Given the description of an element on the screen output the (x, y) to click on. 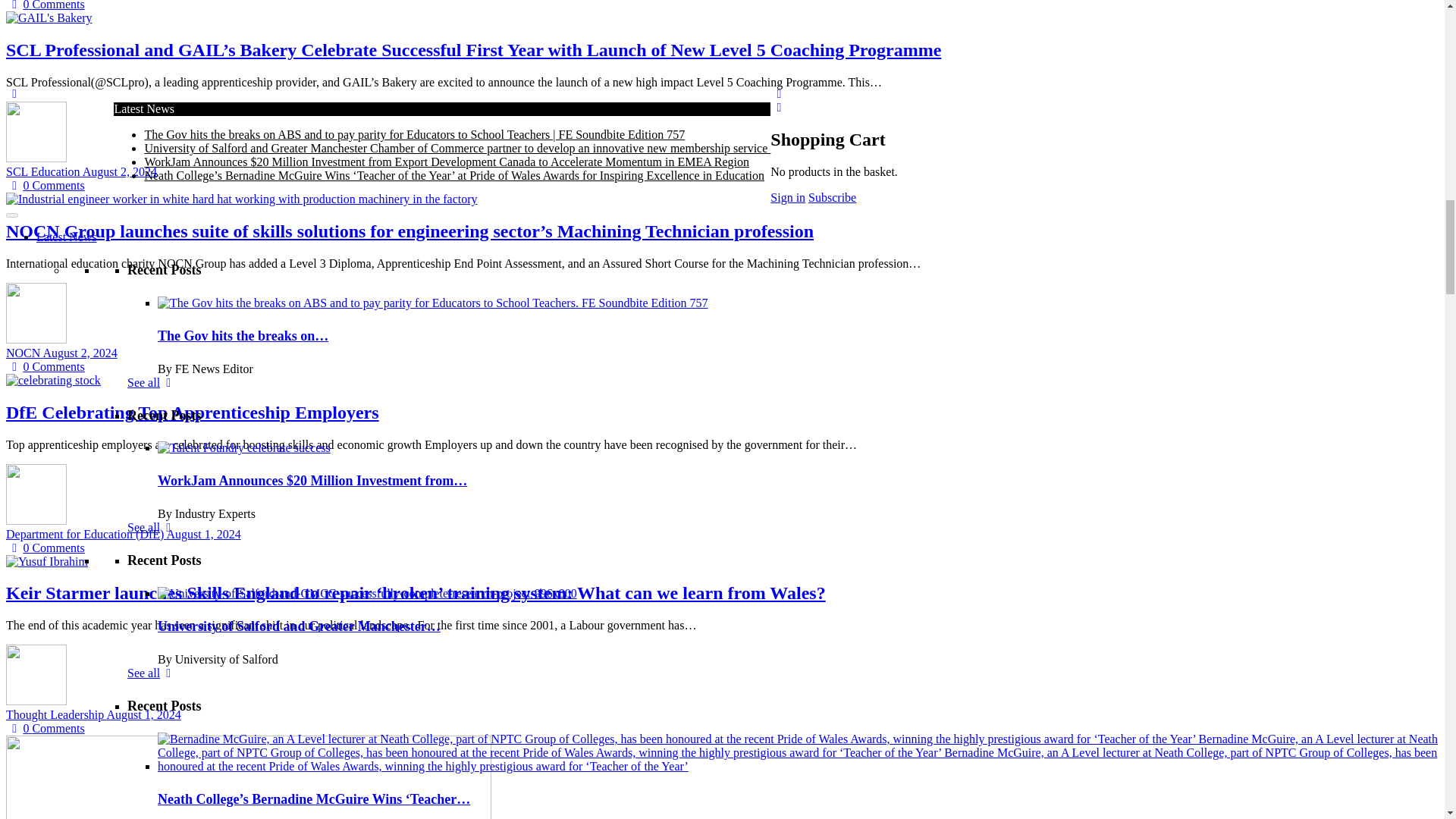
Publishing on FE News (424, 707)
